Given the description of an element on the screen output the (x, y) to click on. 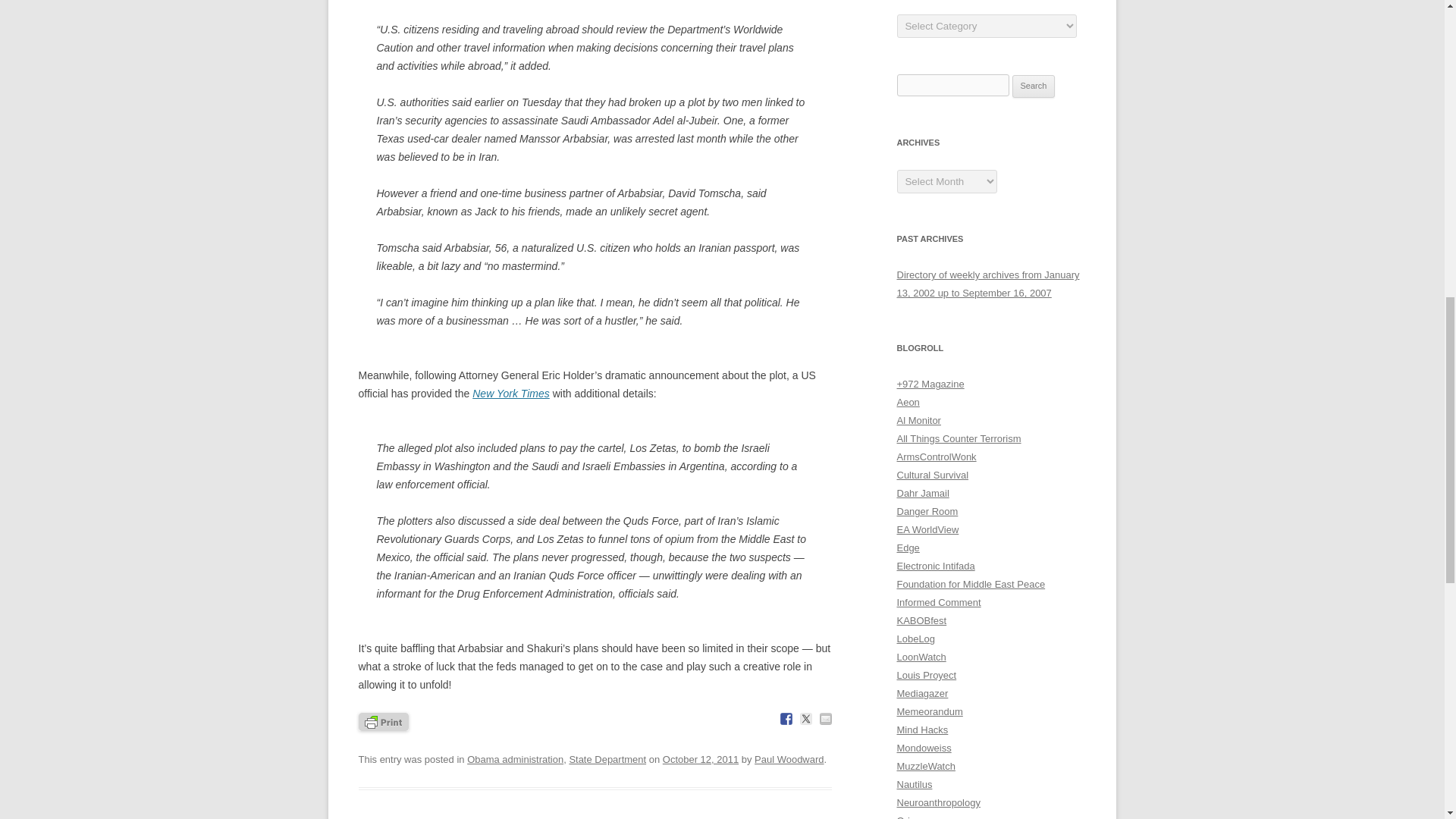
Danger Room (927, 511)
Share by email (825, 718)
Cultural Survival (932, 474)
Search (1033, 86)
10:24 am (700, 758)
Al Monitor (918, 419)
Aeon (907, 401)
EA WorldView (927, 529)
Obama administration (515, 758)
Search (1033, 86)
Share on Facebook (786, 718)
View all posts by Paul Woodward (789, 758)
ArmsControlWonk (935, 456)
